Given the description of an element on the screen output the (x, y) to click on. 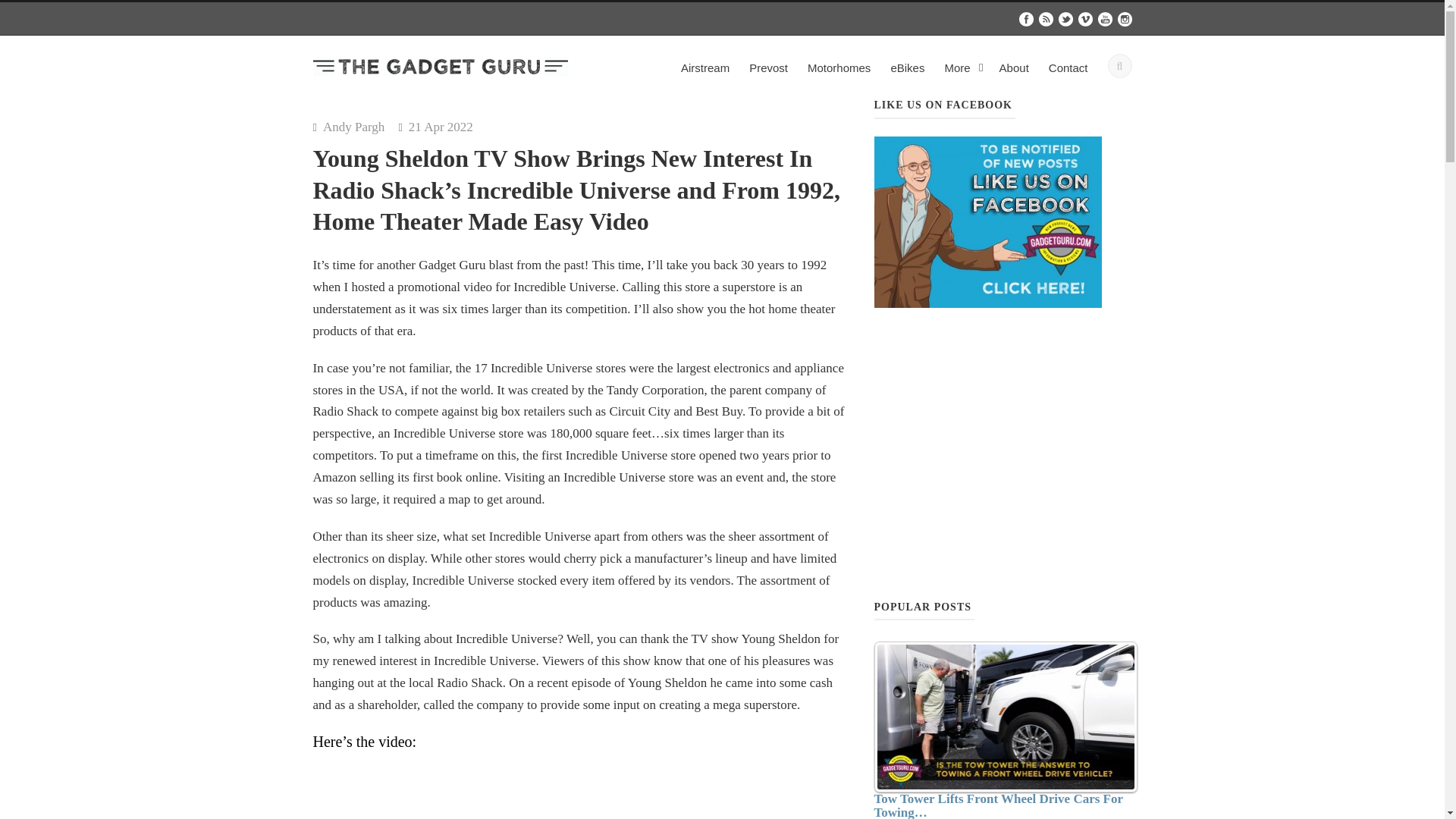
Posts by Andy Pargh (353, 126)
More (961, 72)
eBikes (907, 72)
Airstream (705, 72)
Contact (1068, 72)
Motorhomes (839, 72)
About (1013, 72)
Advertisement (1002, 451)
Prevost (768, 72)
